Given the description of an element on the screen output the (x, y) to click on. 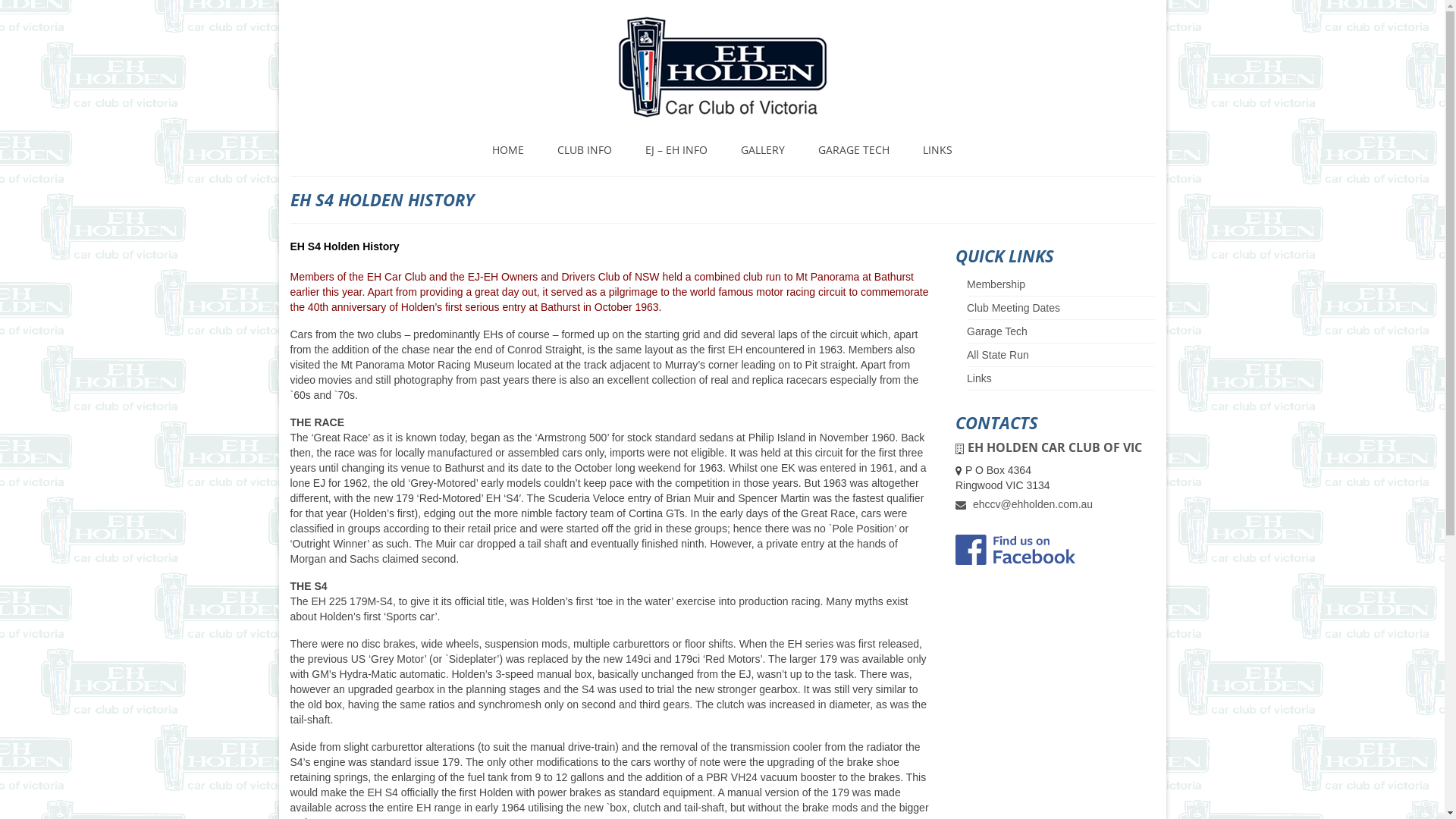
Membership Element type: text (995, 284)
Links Element type: text (978, 378)
Garage Tech Element type: text (996, 331)
Club Meeting Dates Element type: text (1013, 307)
GARAGE TECH Element type: text (853, 149)
CLUB INFO Element type: text (584, 149)
HOME Element type: text (507, 149)
LINKS Element type: text (937, 149)
GALLERY Element type: text (762, 149)
All State Run Element type: text (997, 354)
ehccv@ehholden.com.au Element type: text (1023, 504)
